Given the description of an element on the screen output the (x, y) to click on. 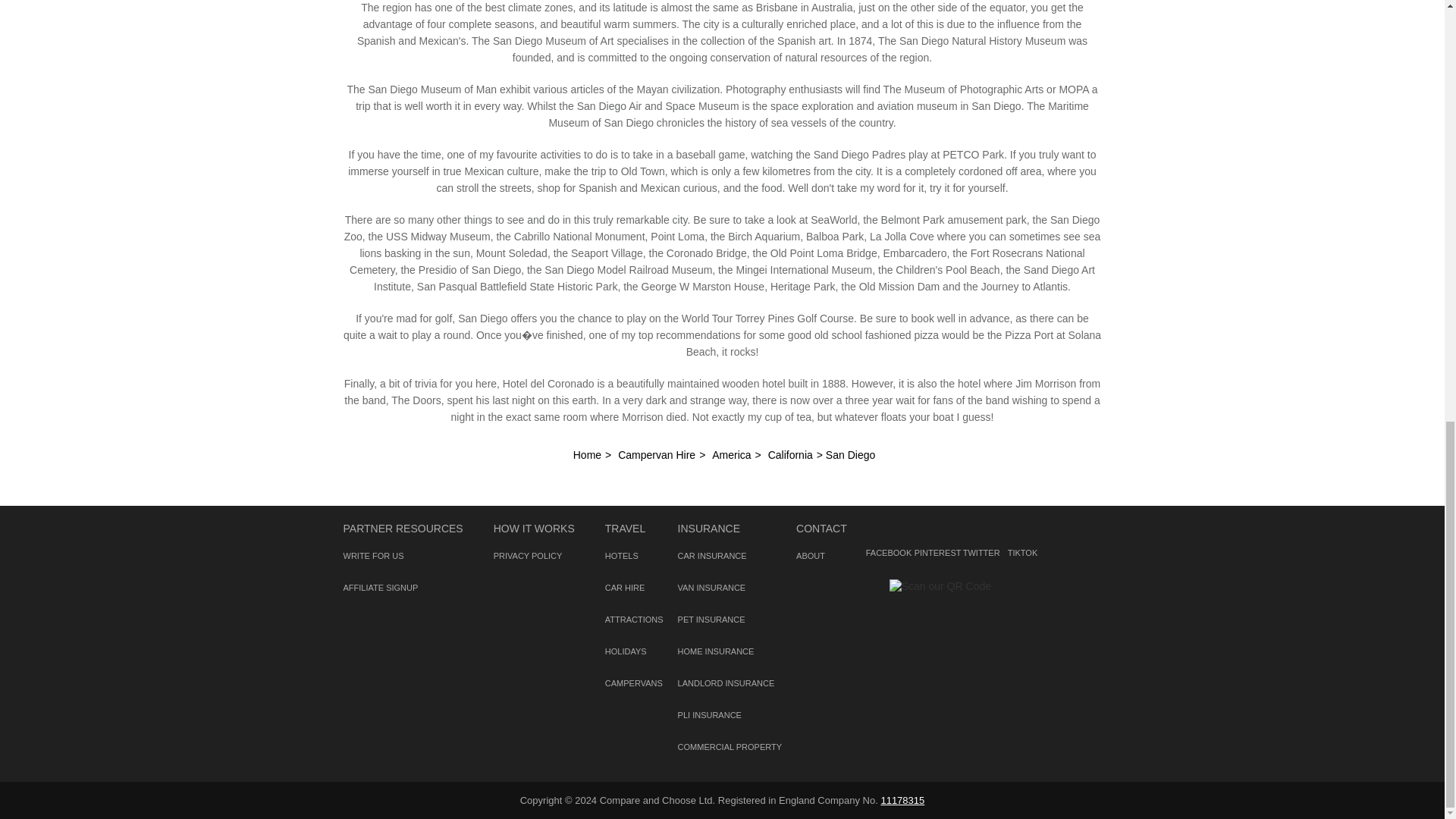
HOLIDAYS (625, 651)
ATTRACTIONS (634, 619)
Home (587, 454)
PINTEREST (931, 532)
11178315 (902, 799)
VAN INSURANCE (711, 587)
CONTACT (821, 528)
FACEBOOK (887, 532)
TWITTER (976, 532)
California (790, 454)
CAR HIRE (625, 587)
PRIVACY POLICY (527, 555)
America (730, 454)
CAMPERVANS (633, 682)
LANDLORD INSURANCE (726, 682)
